Given the description of an element on the screen output the (x, y) to click on. 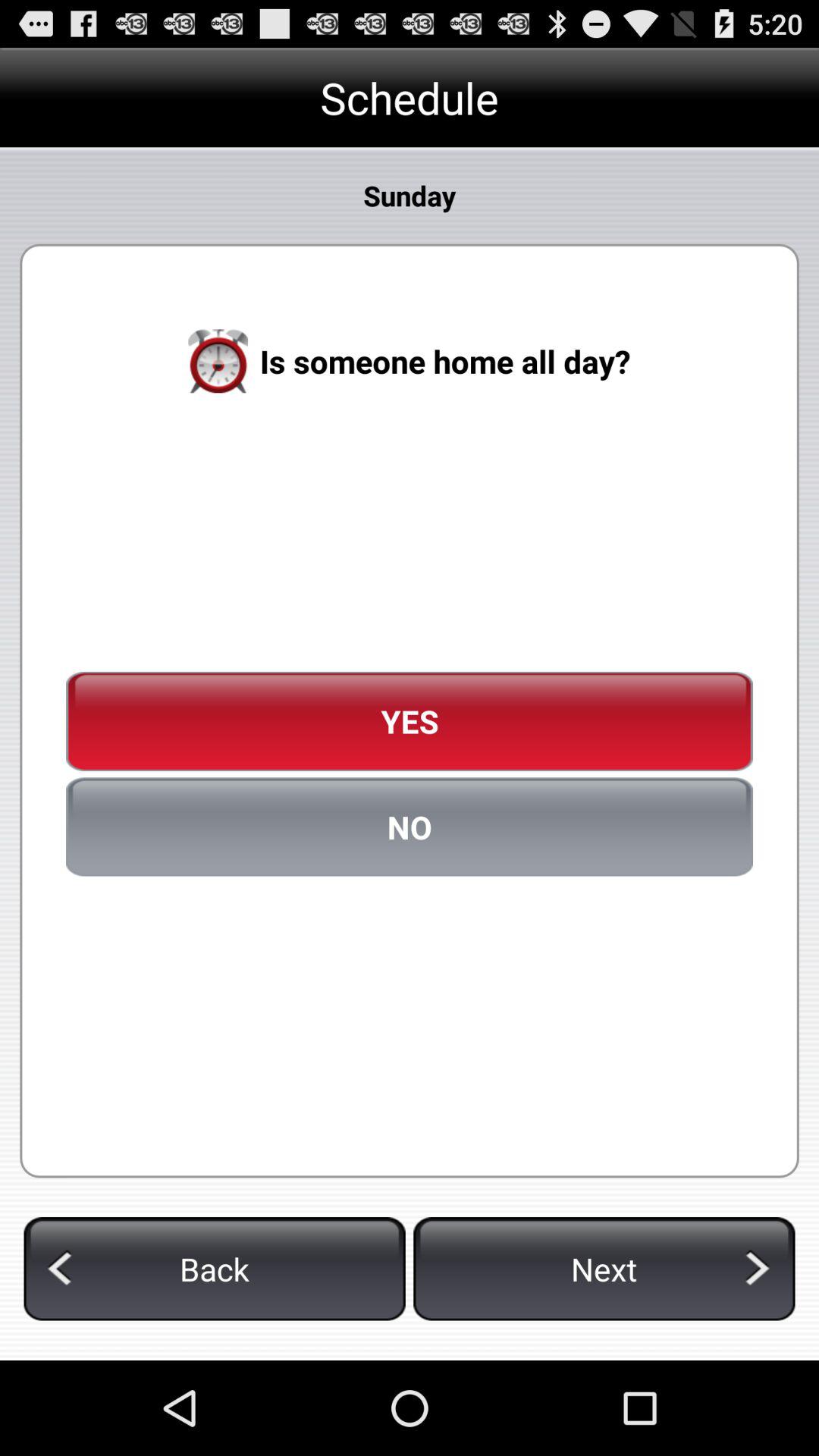
press the item next to the next icon (214, 1268)
